Given the description of an element on the screen output the (x, y) to click on. 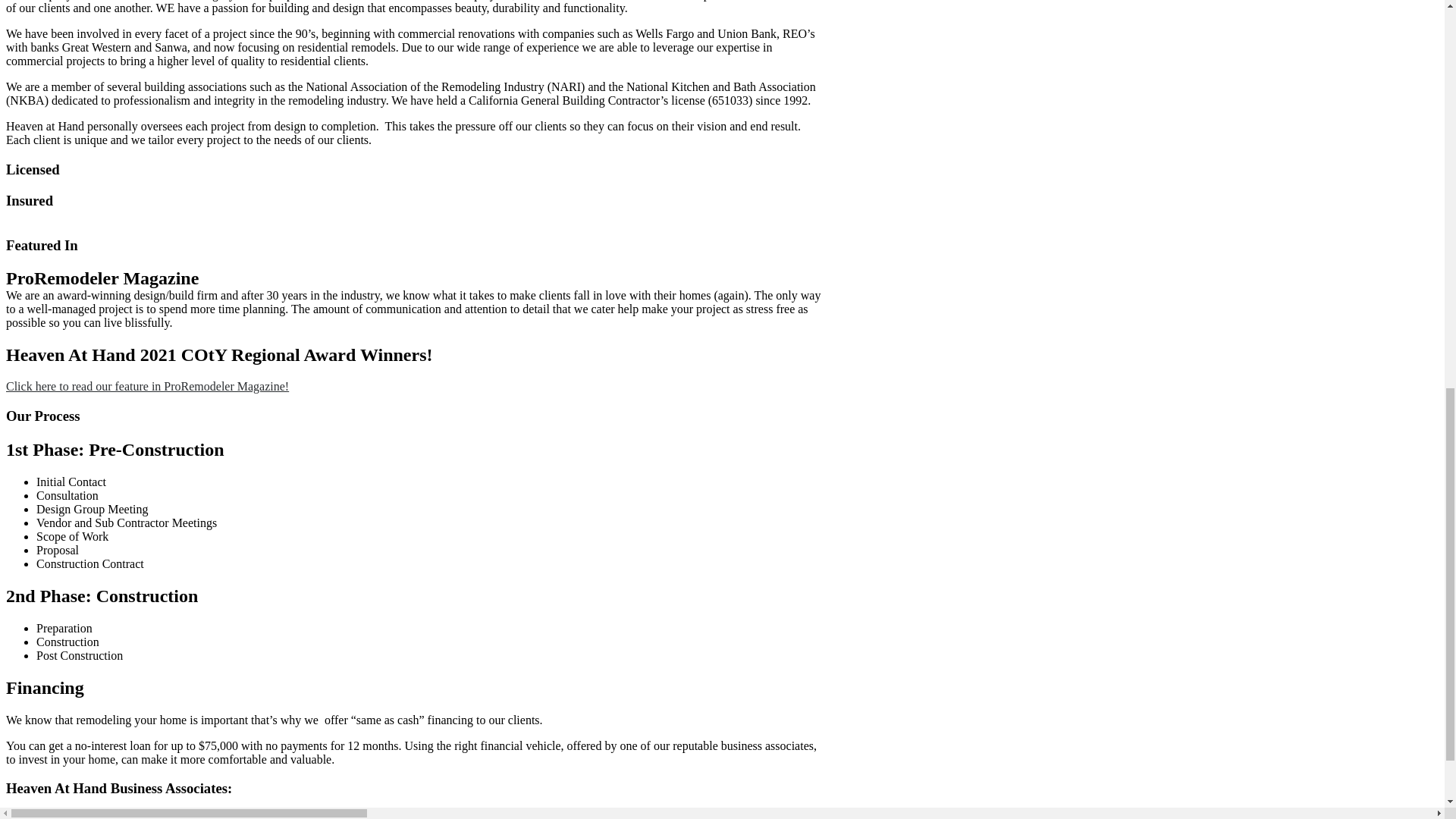
Click here to read our feature in ProRemodeler Magazine! (146, 386)
